Given the description of an element on the screen output the (x, y) to click on. 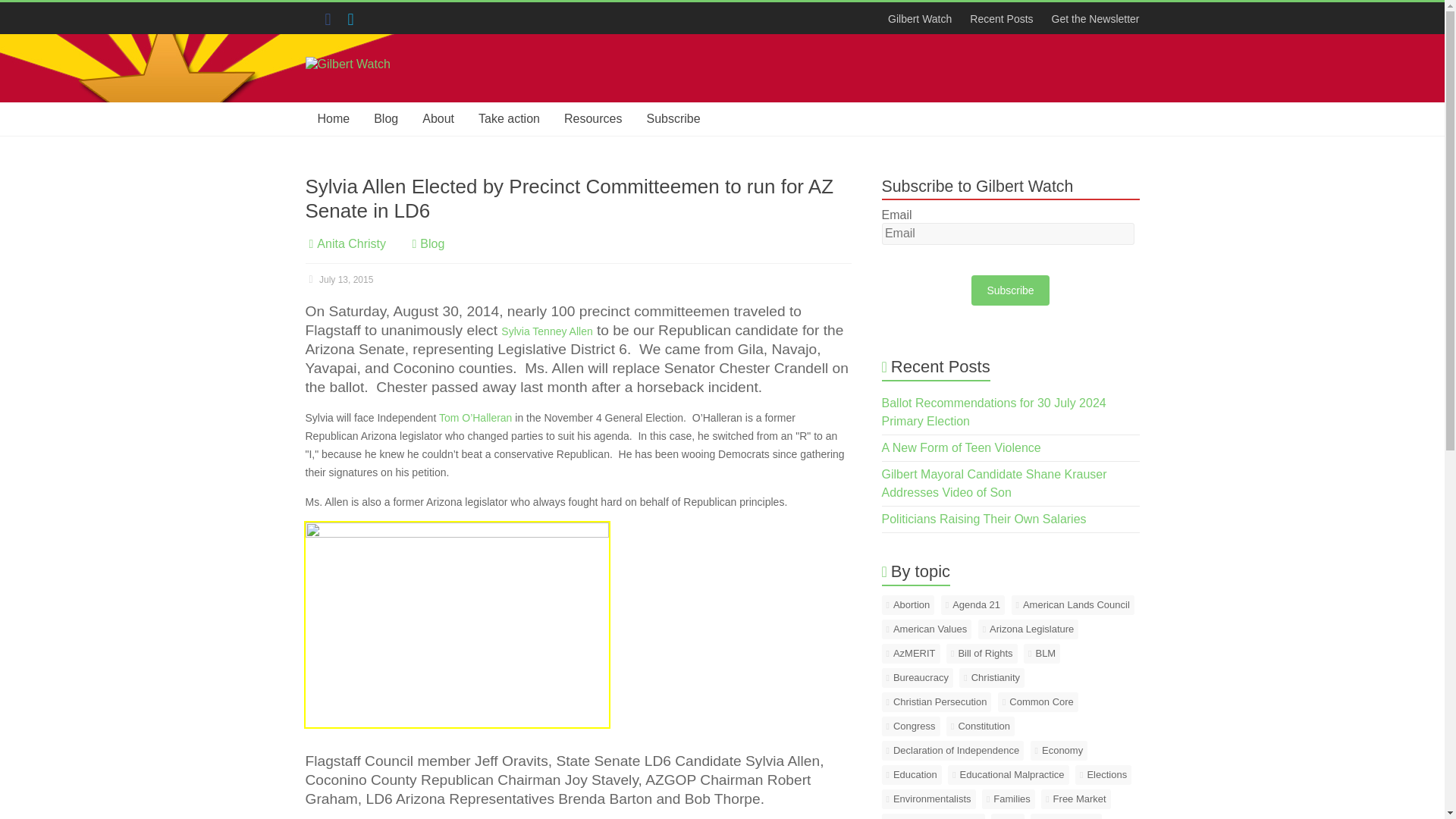
A New Form of Teen Violence (961, 447)
American Values (927, 629)
Arizona Legislature (1028, 629)
Recent Posts (1001, 18)
Gilbert Watch (344, 91)
Blog (385, 118)
BLM (1041, 653)
Get the Newsletter (1091, 18)
Ballot Recommendations for 30 July 2024 Primary Election (994, 411)
